Given the description of an element on the screen output the (x, y) to click on. 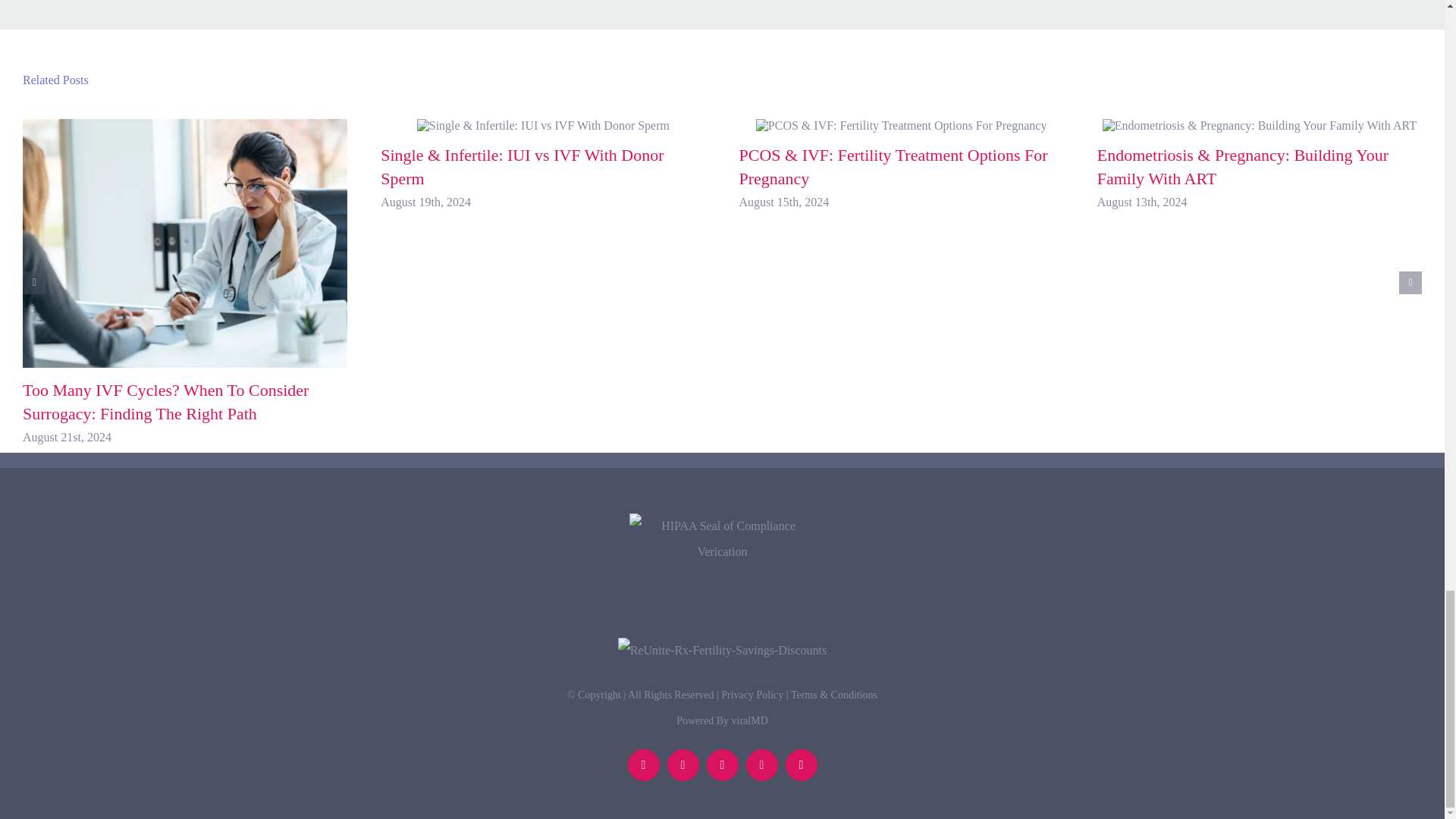
Privacy Policy (751, 695)
LinkedIn (643, 765)
Facebook (682, 765)
YouTube (761, 765)
viralMD (750, 720)
LinkedIn (643, 765)
X (722, 765)
Instagram (801, 765)
